Given the description of an element on the screen output the (x, y) to click on. 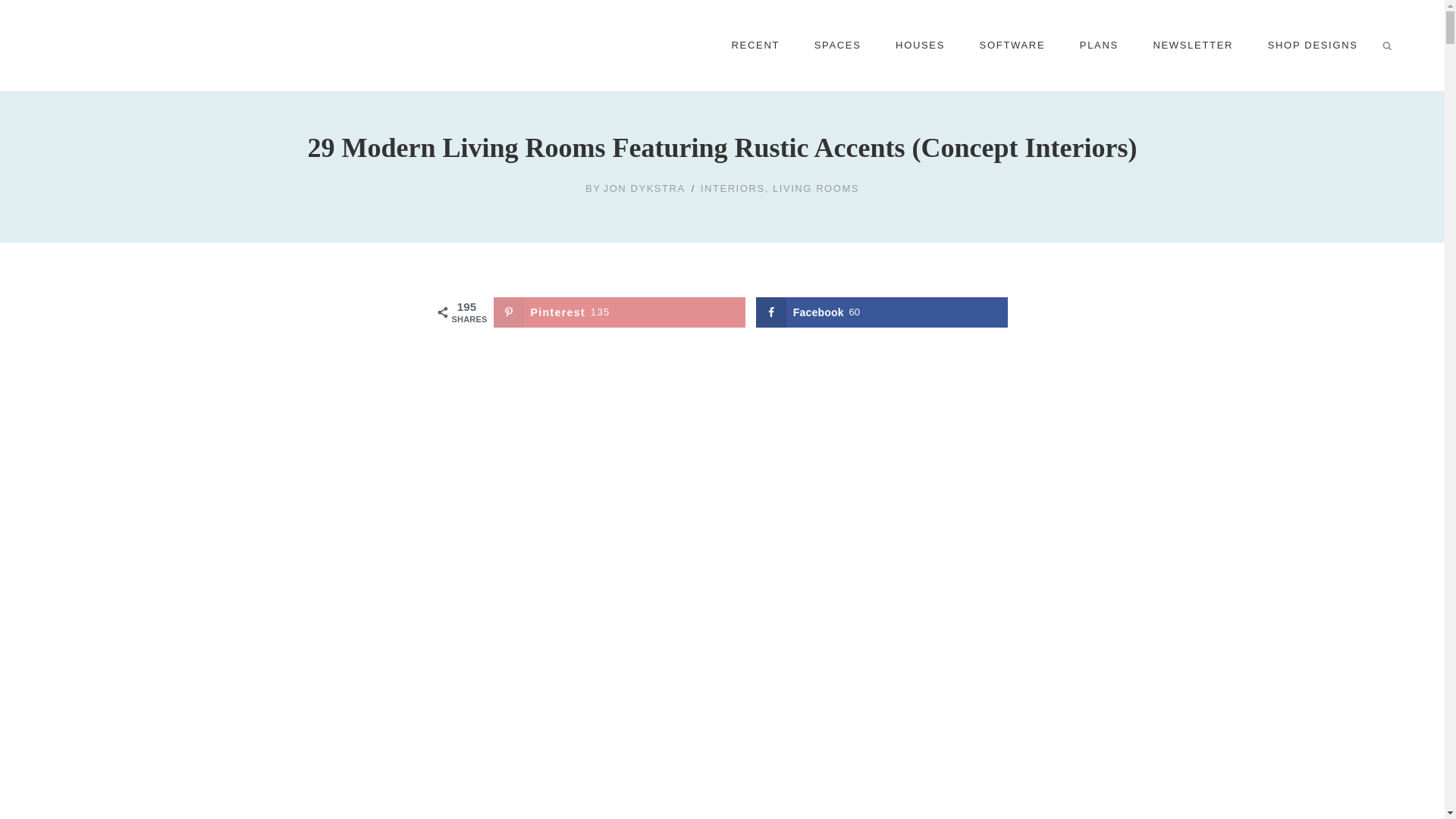
SPACES (836, 45)
Share on Facebook (882, 312)
Save to Pinterest (619, 312)
RECENT (755, 45)
